Given the description of an element on the screen output the (x, y) to click on. 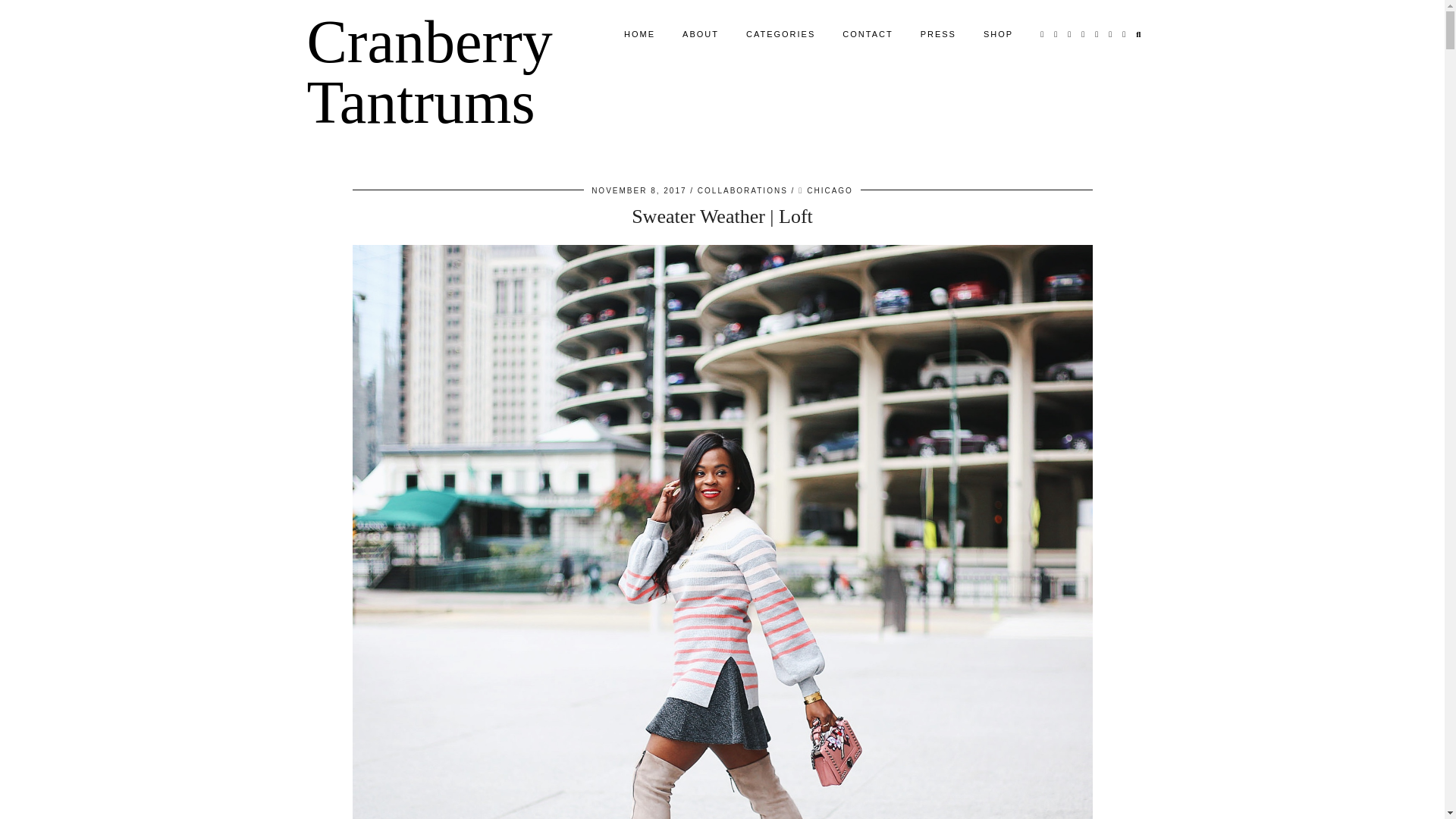
CATEGORIES (780, 33)
PRESS (938, 33)
HOME (639, 33)
CONTACT (866, 33)
Cranberry Tantrums (428, 71)
Cranberry Tantrums (428, 71)
ABOUT (700, 33)
